Given the description of an element on the screen output the (x, y) to click on. 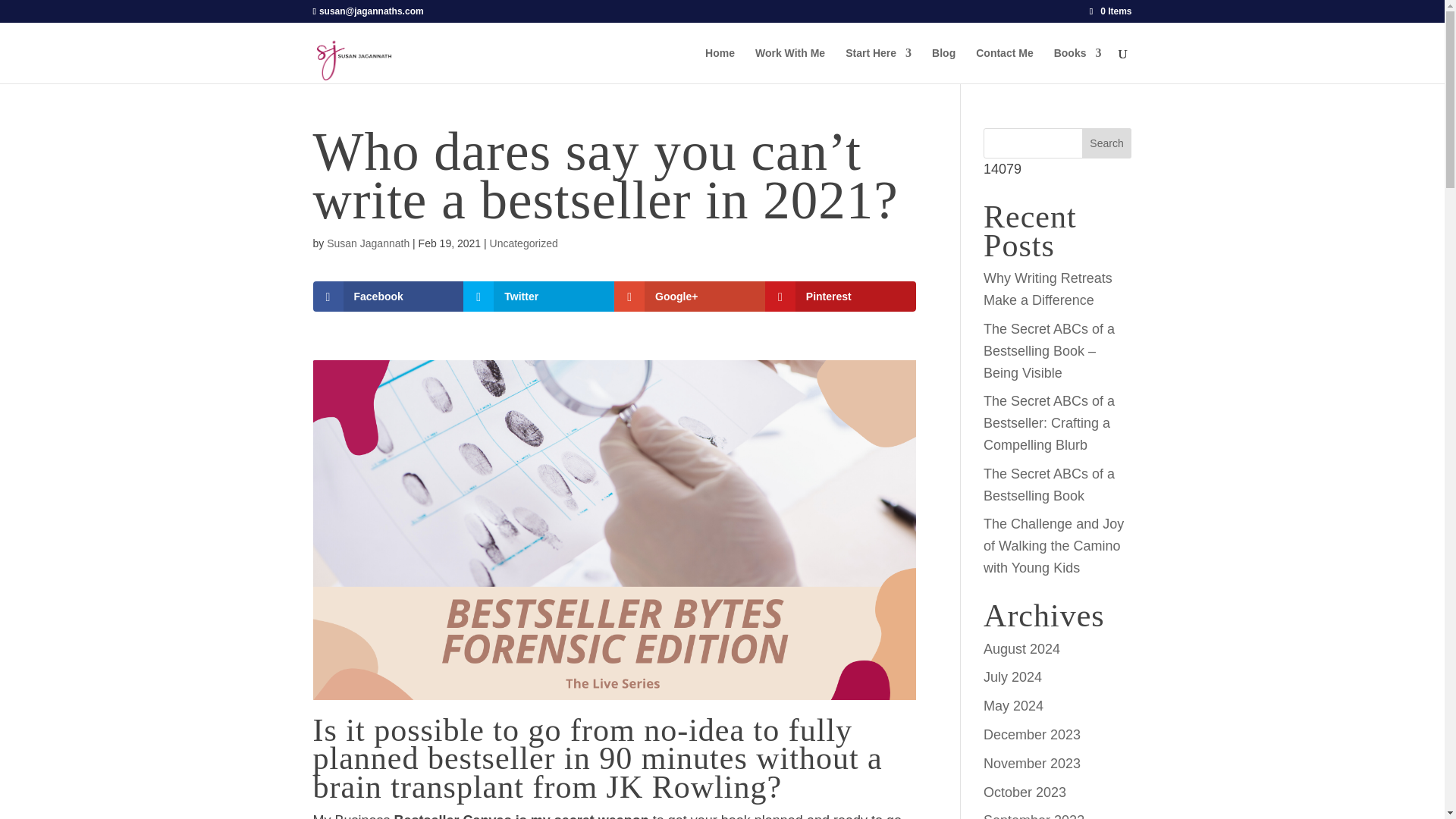
Start Here (878, 65)
Search (1106, 142)
Uncategorized (523, 243)
Search (1106, 142)
Work With Me (790, 65)
The Secret ABCs of a Bestseller: Crafting a Compelling Blurb (1049, 422)
Twitter (538, 296)
Posts by Susan Jagannath (367, 243)
Susan Jagannath (367, 243)
